Given the description of an element on the screen output the (x, y) to click on. 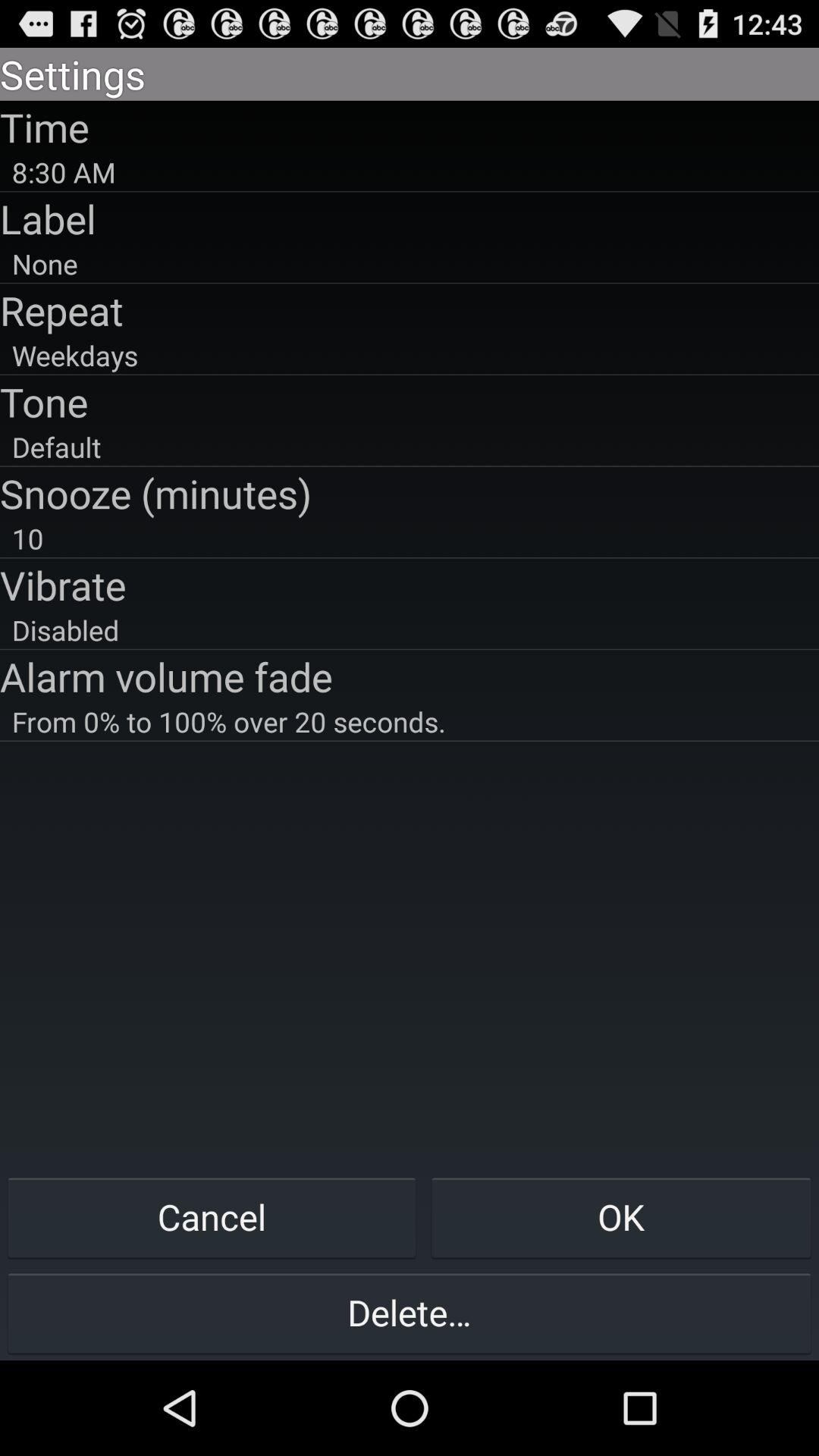
launch label (409, 218)
